Given the description of an element on the screen output the (x, y) to click on. 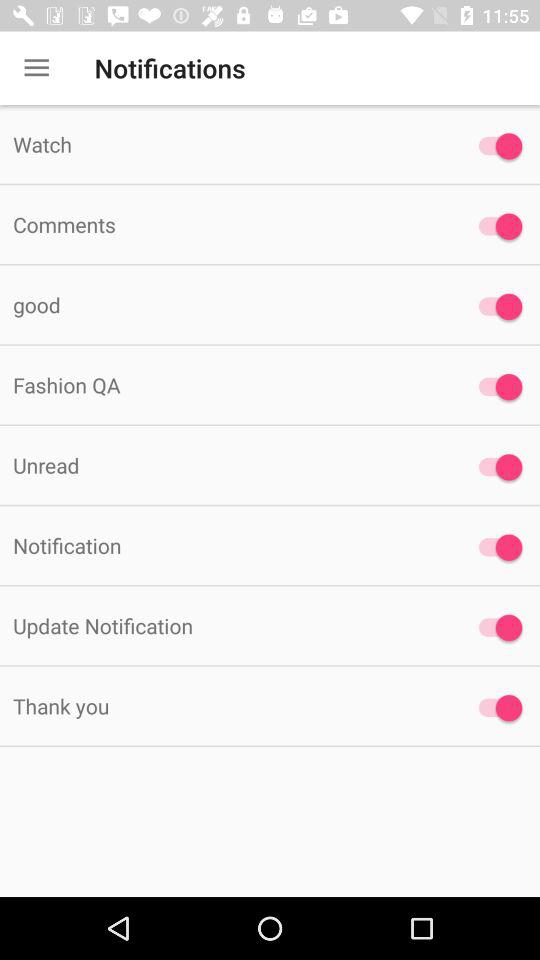
the good option (495, 306)
